Given the description of an element on the screen output the (x, y) to click on. 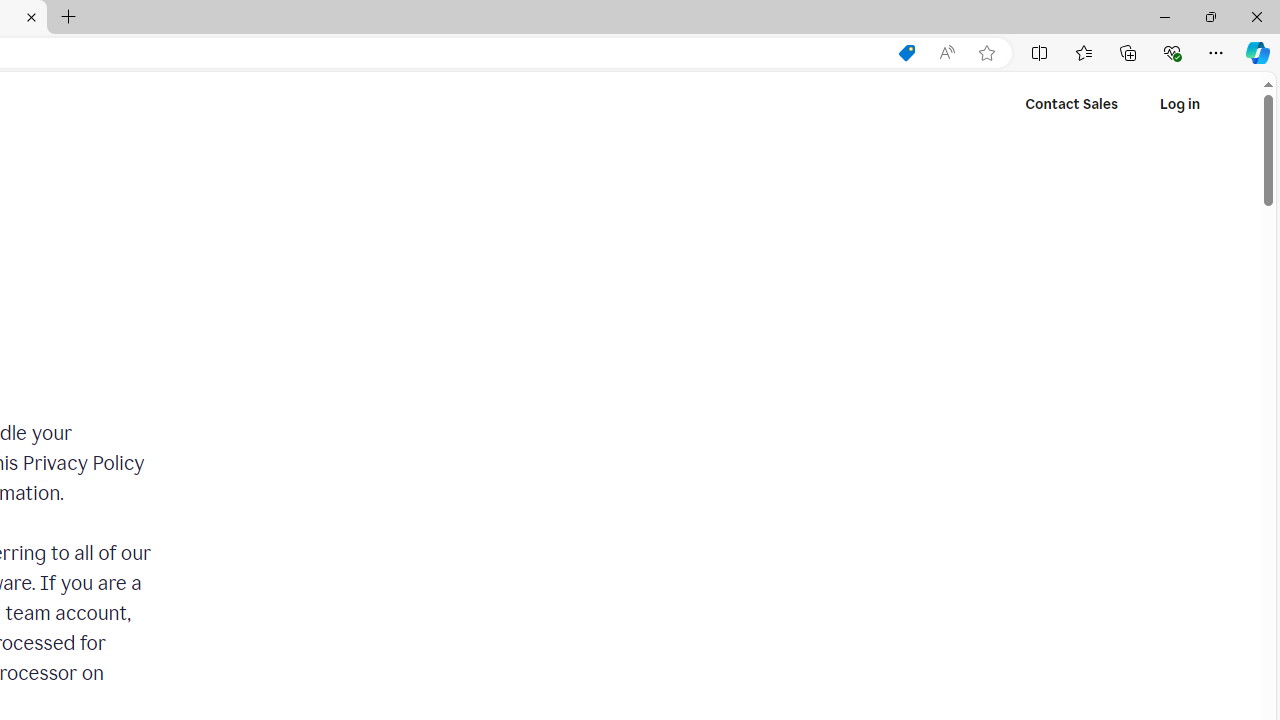
Shopping in Microsoft Edge (906, 53)
